Given the description of an element on the screen output the (x, y) to click on. 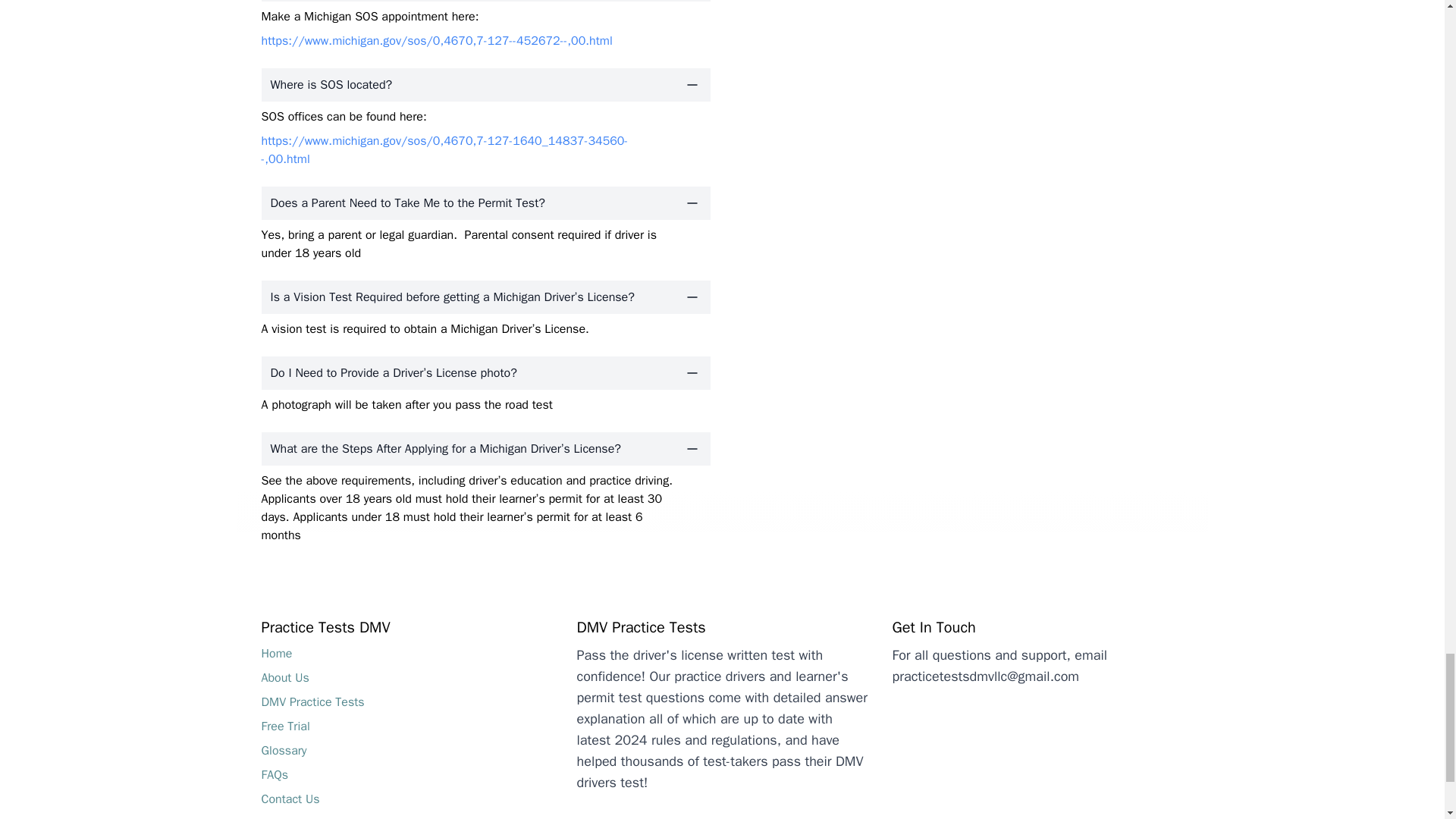
Does a Parent Need to Take Me to the Permit Test? (485, 203)
Where is SOS located? (485, 84)
